Given the description of an element on the screen output the (x, y) to click on. 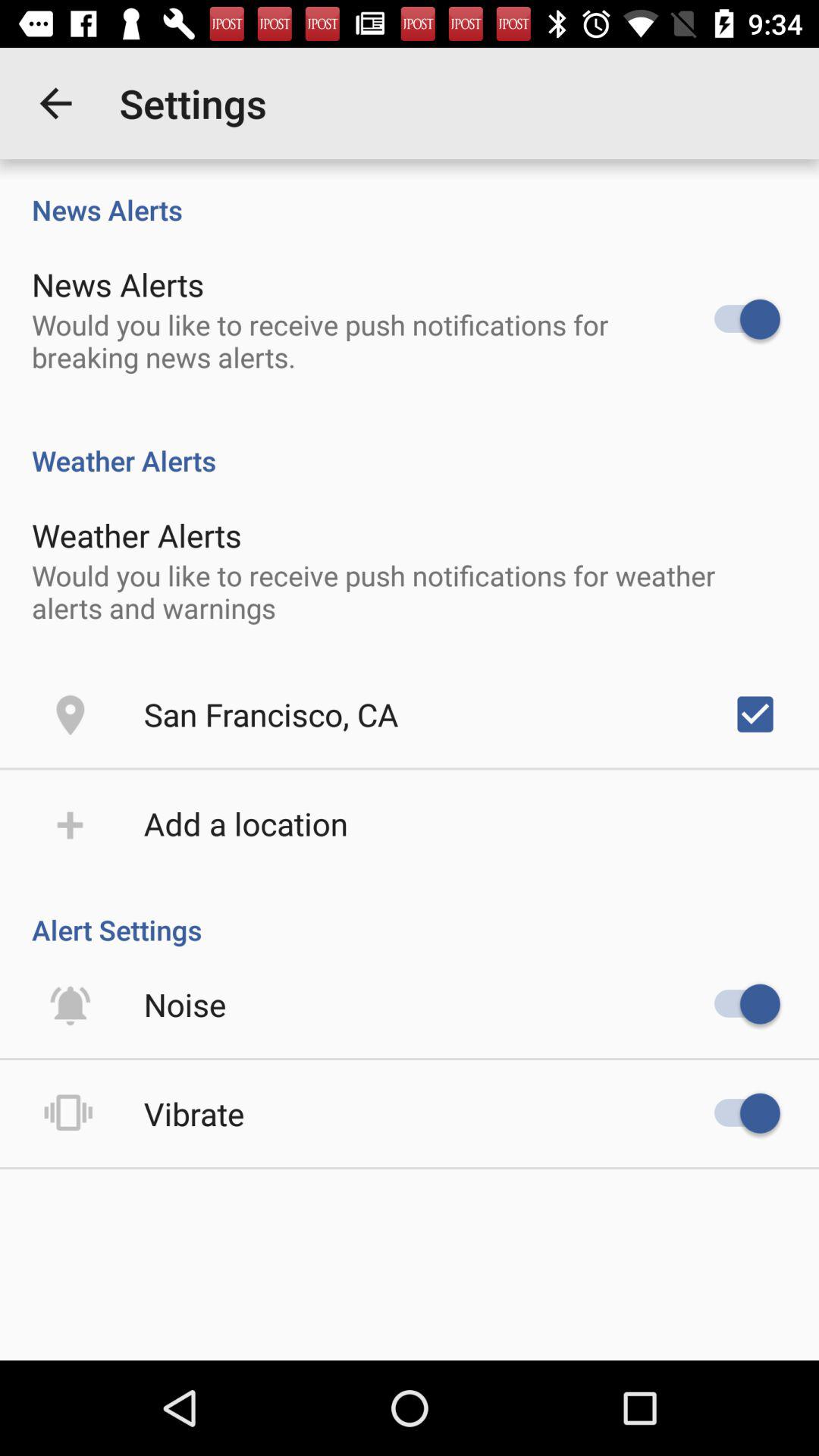
choose the item below the san francisco, ca item (245, 823)
